Given the description of an element on the screen output the (x, y) to click on. 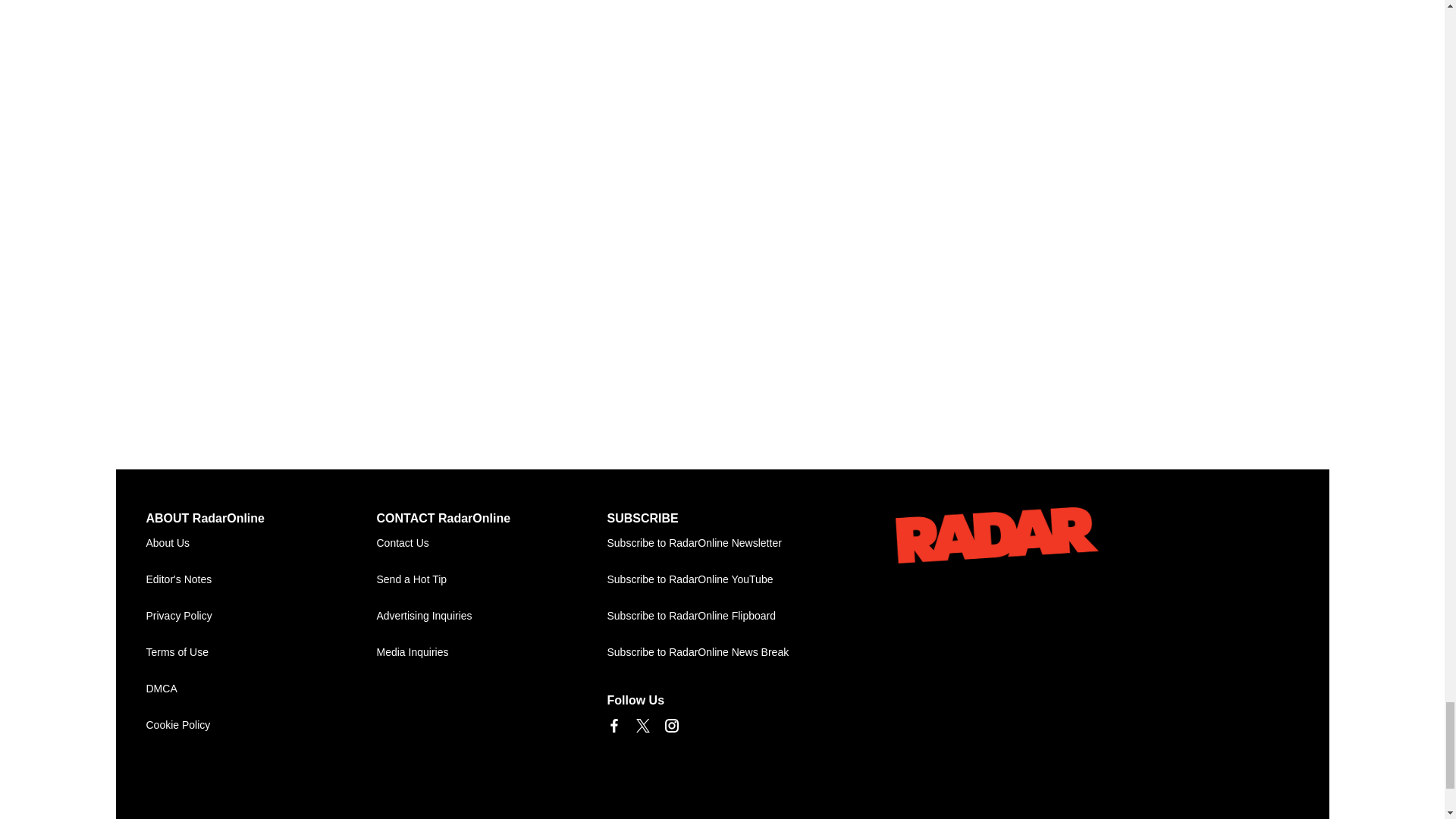
Cookie Policy (260, 725)
Link to Facebook (613, 725)
Terms of Use (260, 652)
DMCA (260, 688)
About Us (260, 543)
Privacy Policy (260, 616)
Subscribe (722, 543)
Link to Instagram (670, 725)
Media Inquiries (491, 652)
Send a Hot Tip (491, 579)
